Given the description of an element on the screen output the (x, y) to click on. 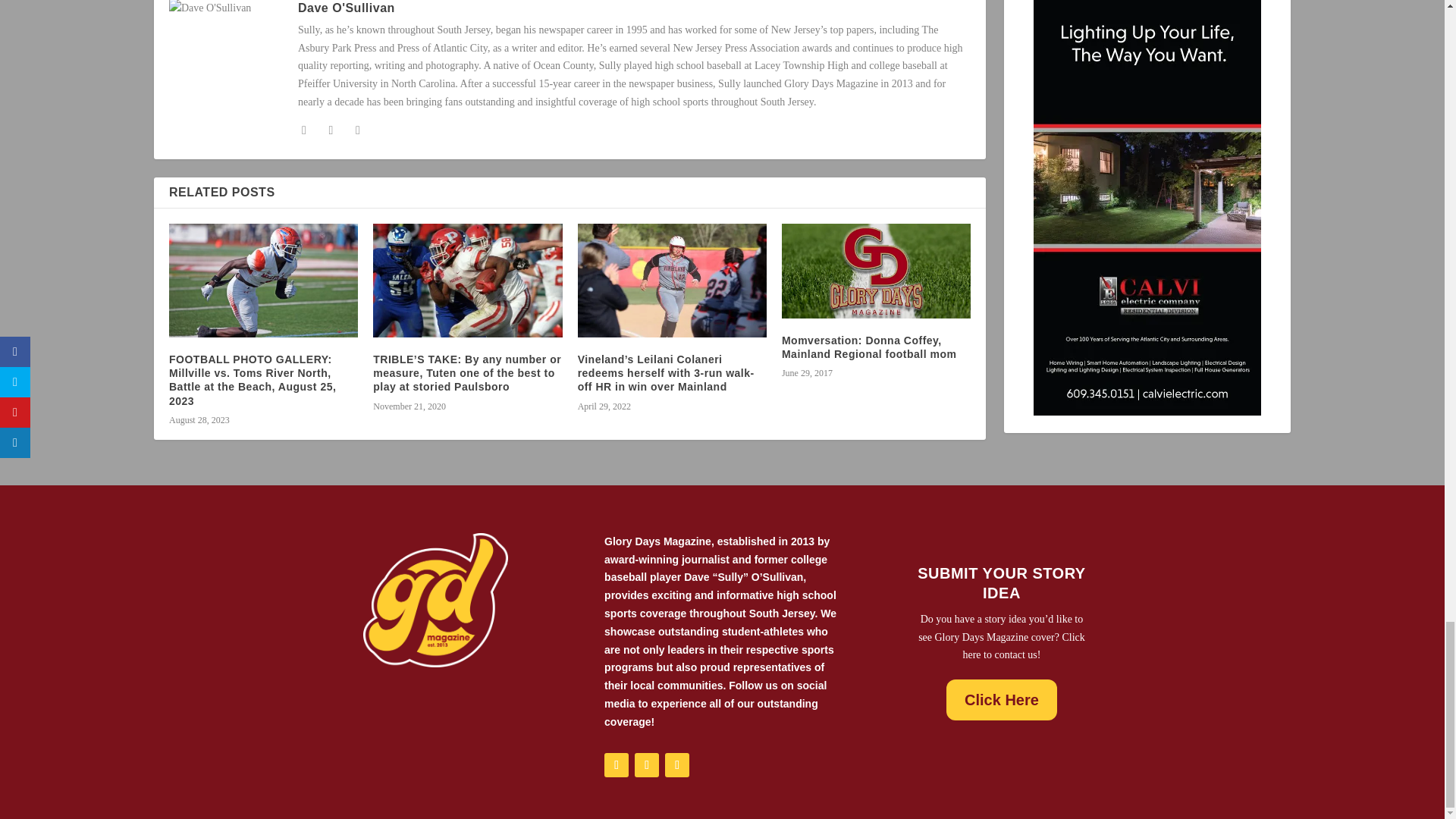
View all posts by Dave O'Sullivan (346, 7)
Momversation: Donna Coffey, Mainland Regional football mom (876, 270)
